Given the description of an element on the screen output the (x, y) to click on. 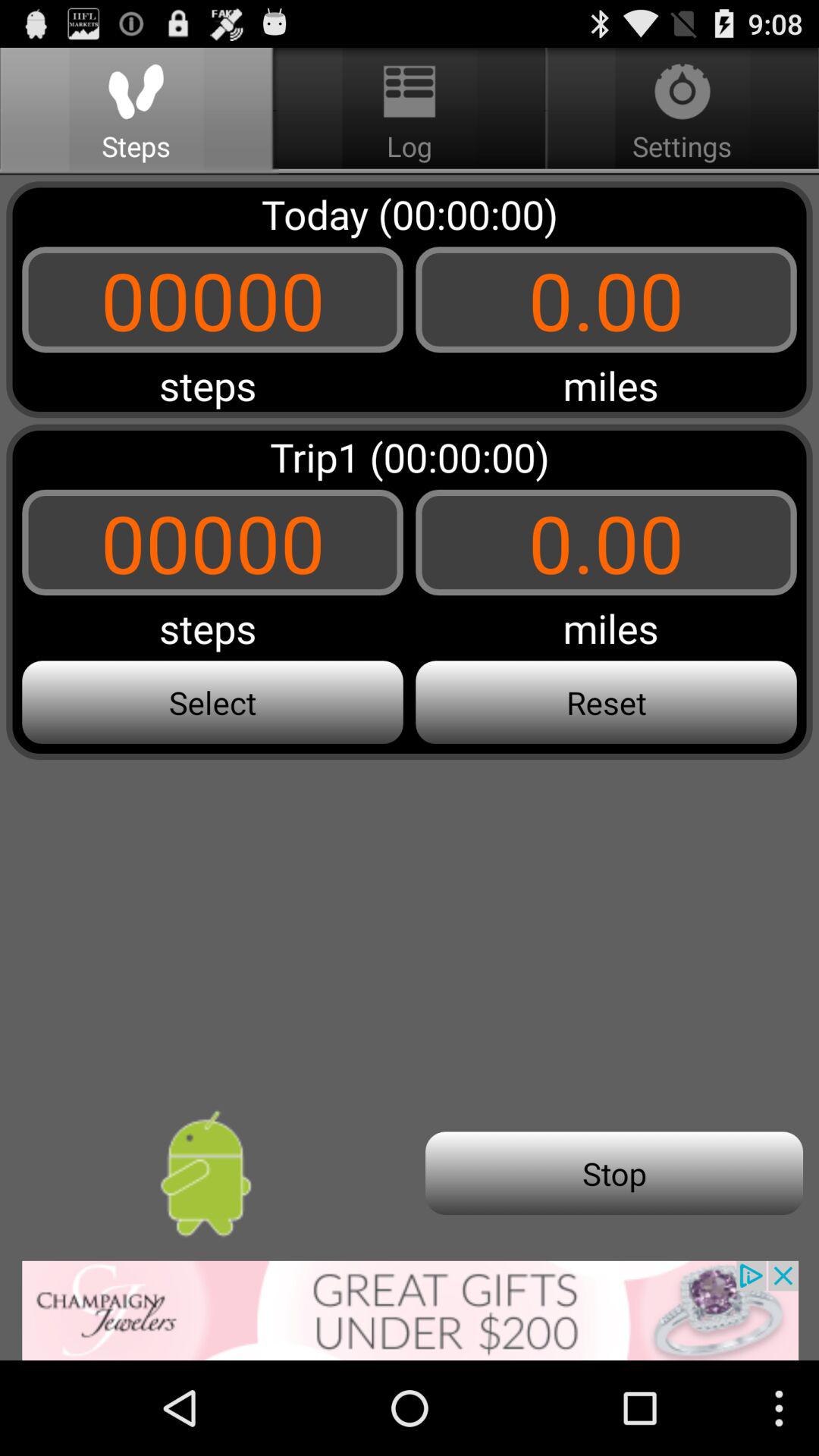
go to reset button (605, 702)
